Given the description of an element on the screen output the (x, y) to click on. 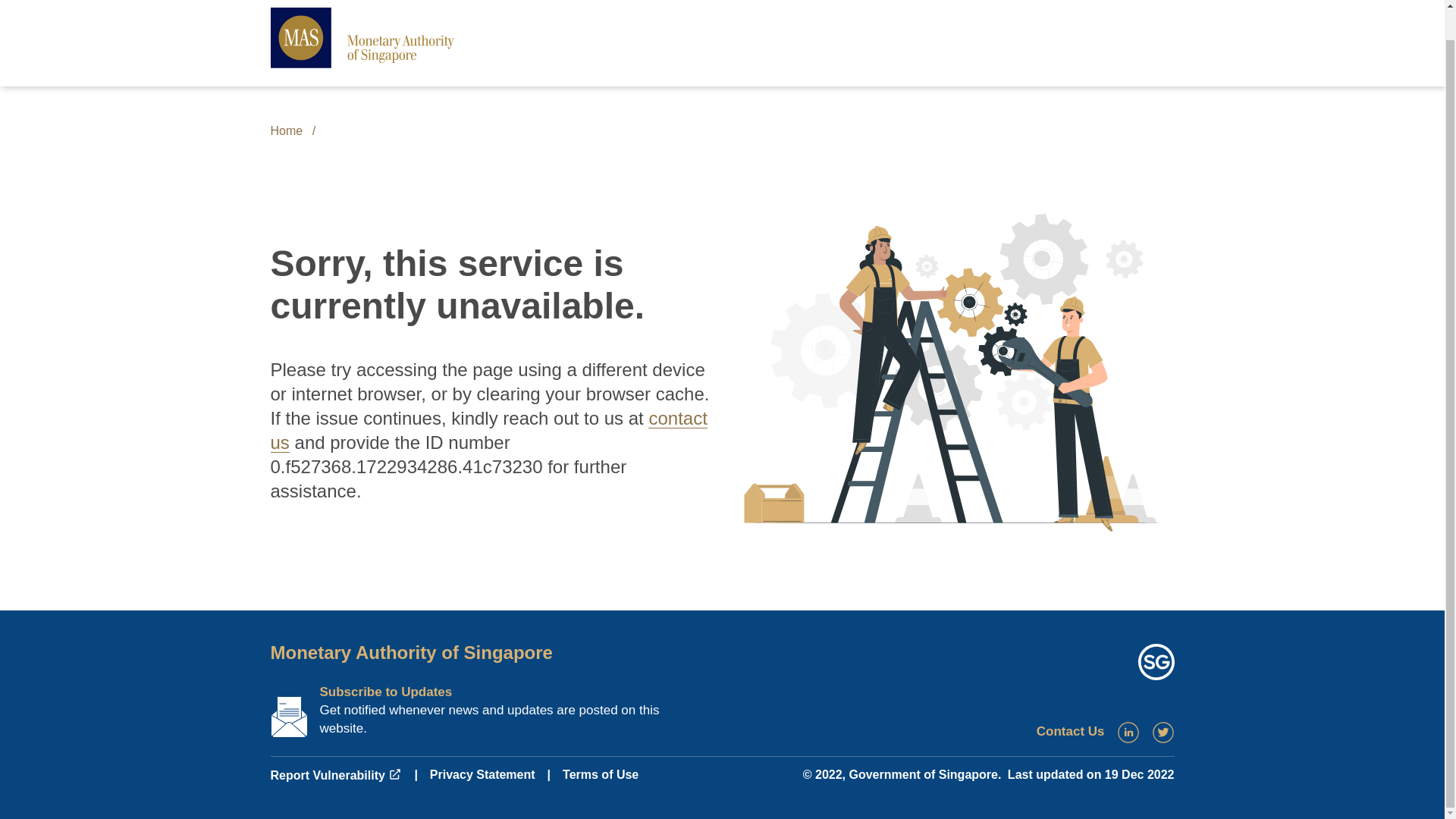
Contact Us (1070, 730)
Report Vulnerability (335, 775)
Home (285, 130)
contact us (487, 429)
Privacy Statement (482, 774)
Monetary Authority of Singapore (410, 652)
Terms of Use (600, 774)
